Given the description of an element on the screen output the (x, y) to click on. 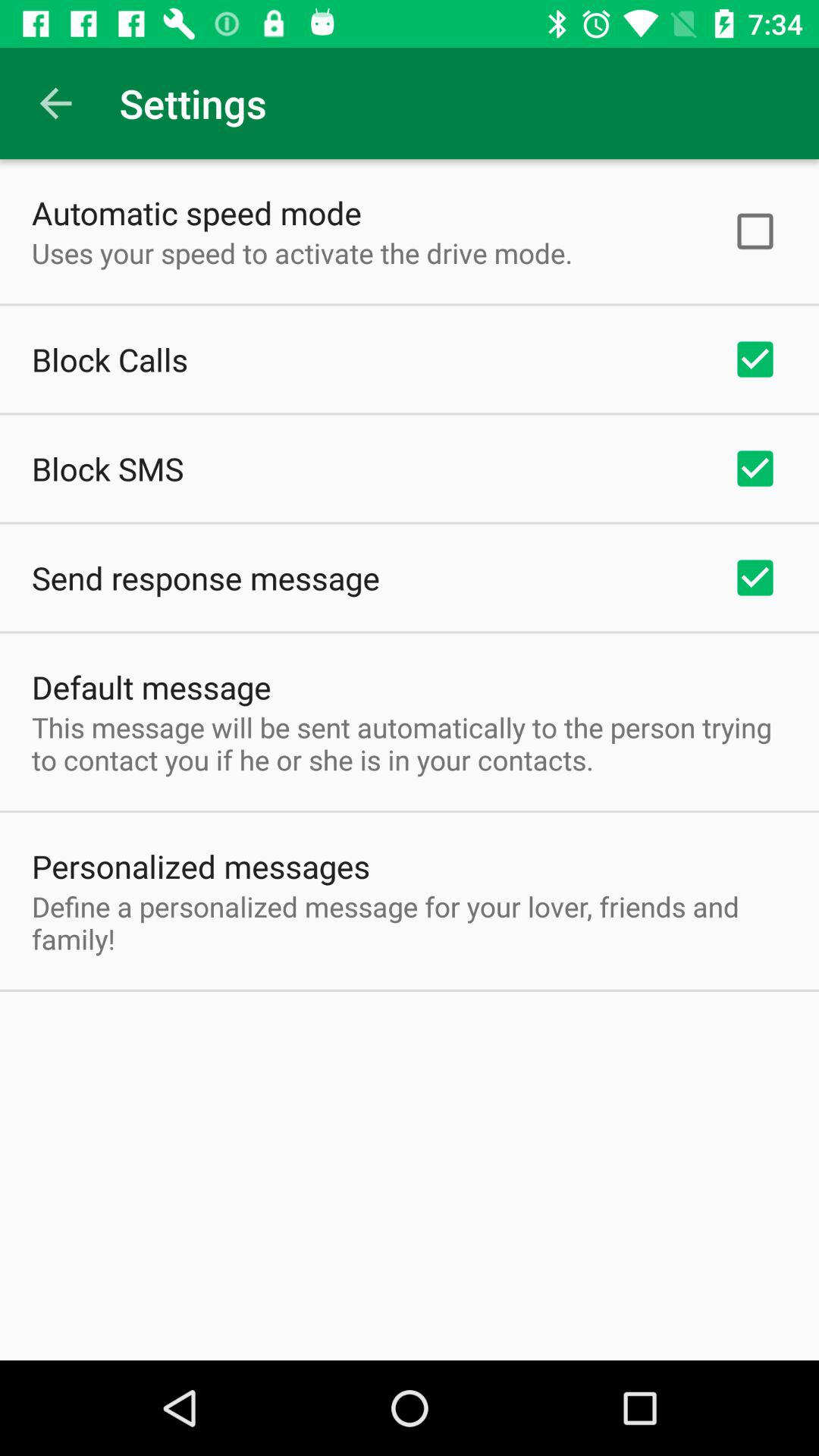
swipe to the block sms icon (107, 468)
